Given the description of an element on the screen output the (x, y) to click on. 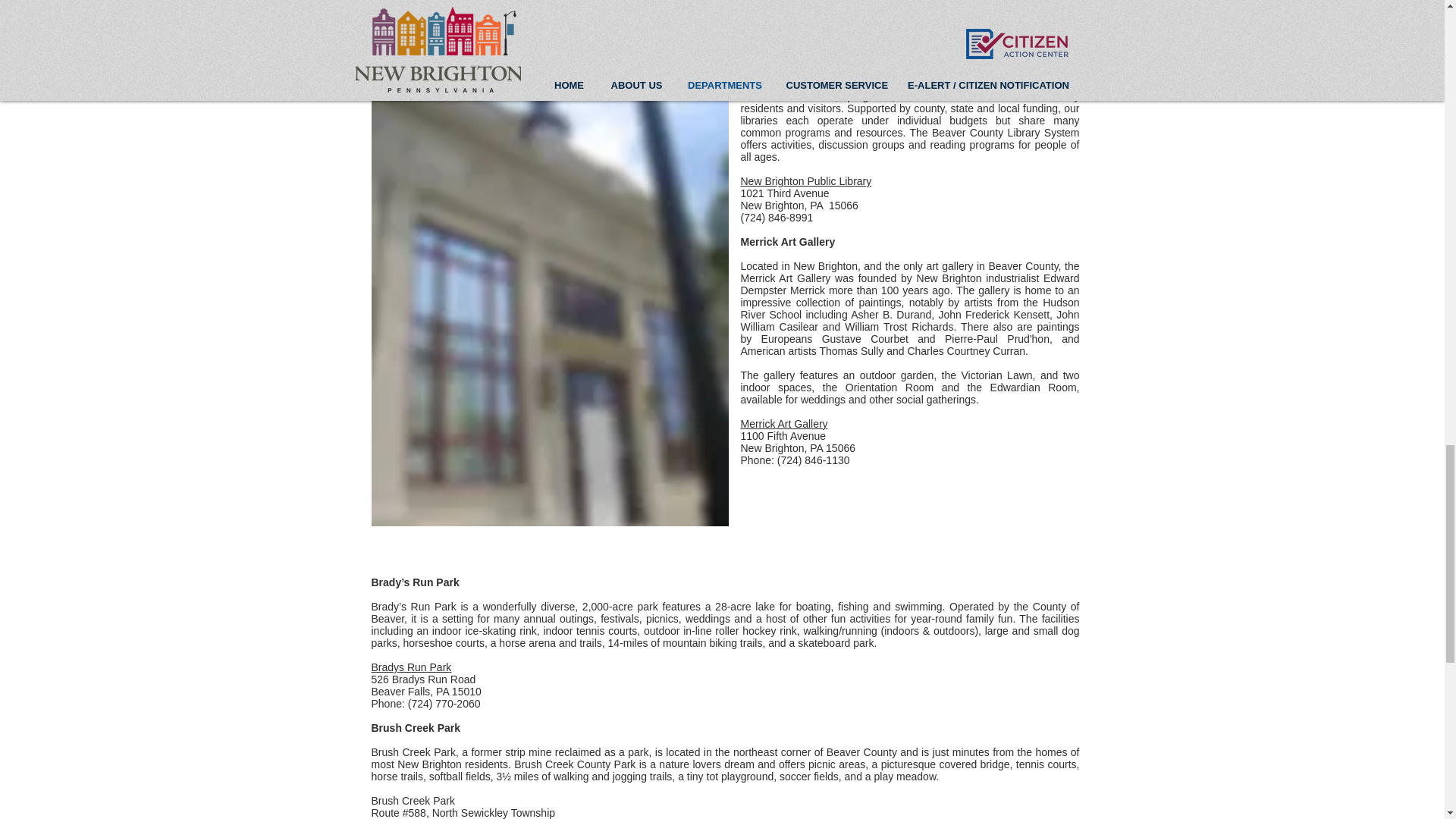
Bradys Run Park (411, 666)
Merrick Art Gallery (783, 423)
New Brighton Public Library (804, 181)
